Given the description of an element on the screen output the (x, y) to click on. 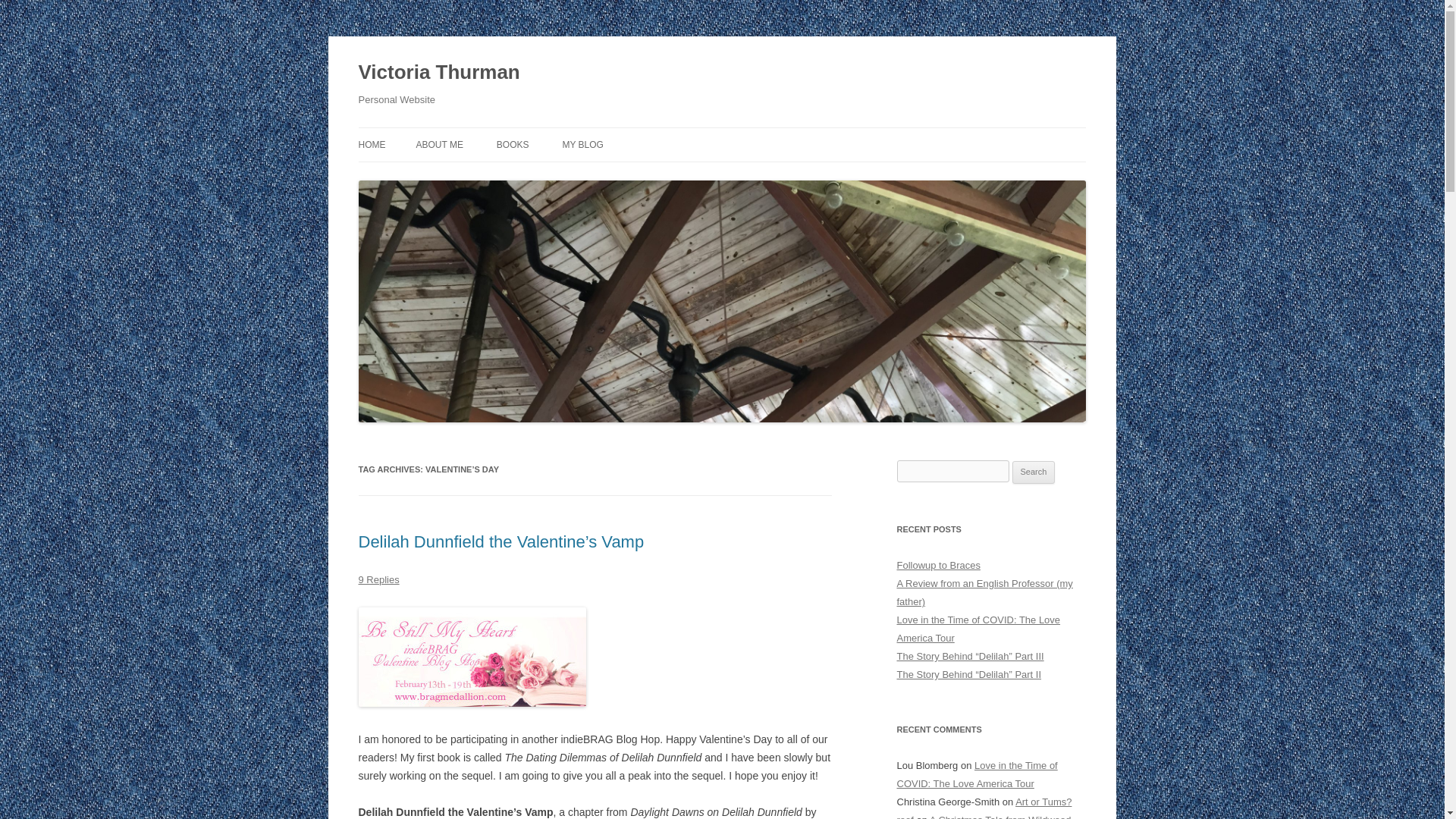
BOOKS (512, 144)
Followup to Braces (937, 564)
Love in the Time of COVID: The Love America Tour (977, 628)
MY BLOG (582, 144)
9 Replies (378, 579)
Victoria Thurman (438, 72)
roof (904, 816)
Love in the Time of COVID: The Love America Tour (976, 774)
Search (1033, 472)
Victoria Thurman (438, 72)
Art or Tums? (1042, 801)
ABOUT ME (438, 144)
A Christmas Tale from Wildwood Circle (983, 816)
